Given the description of an element on the screen output the (x, y) to click on. 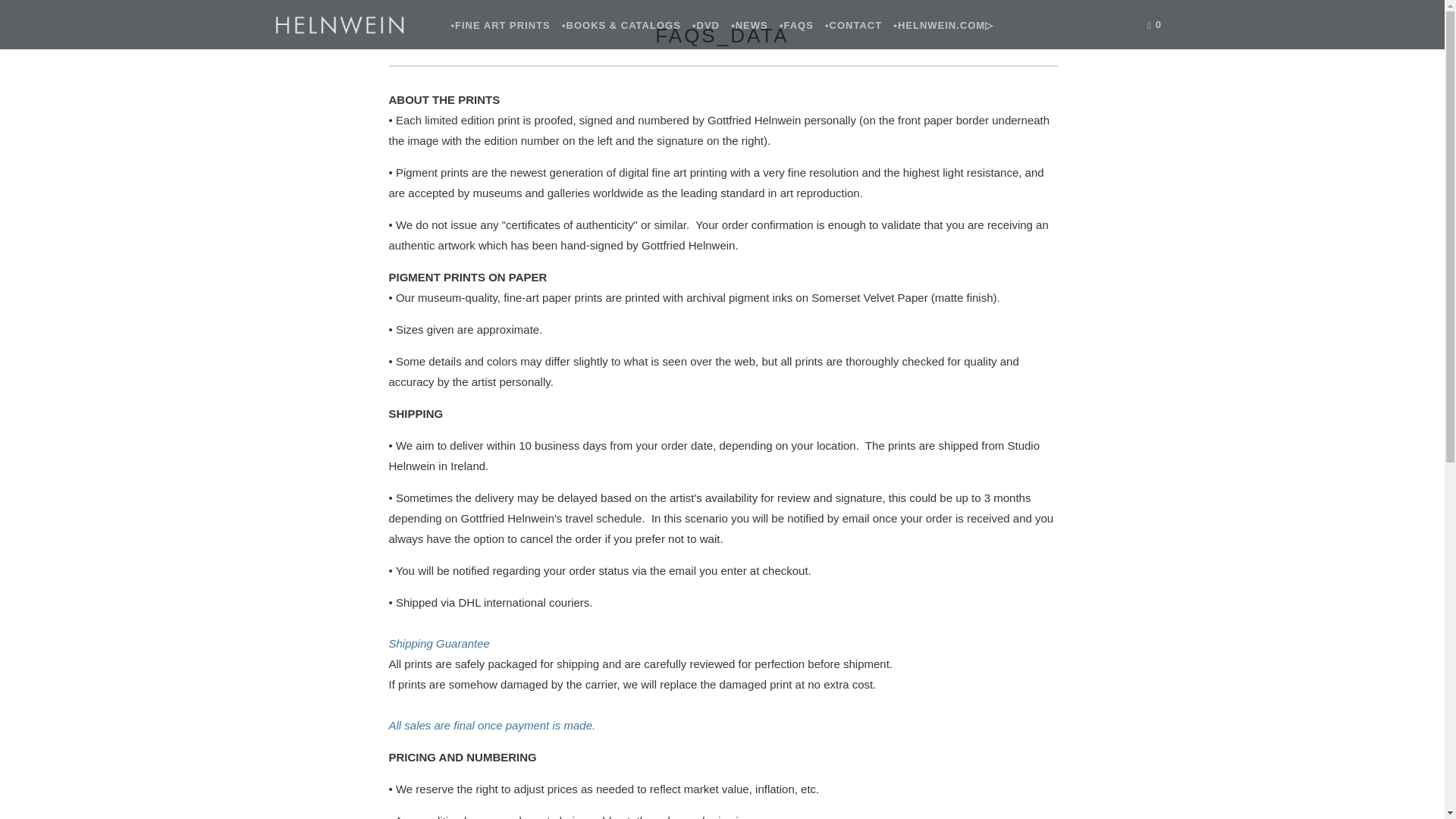
Helnwein-ArtStore (352, 24)
0 (1155, 25)
